Given the description of an element on the screen output the (x, y) to click on. 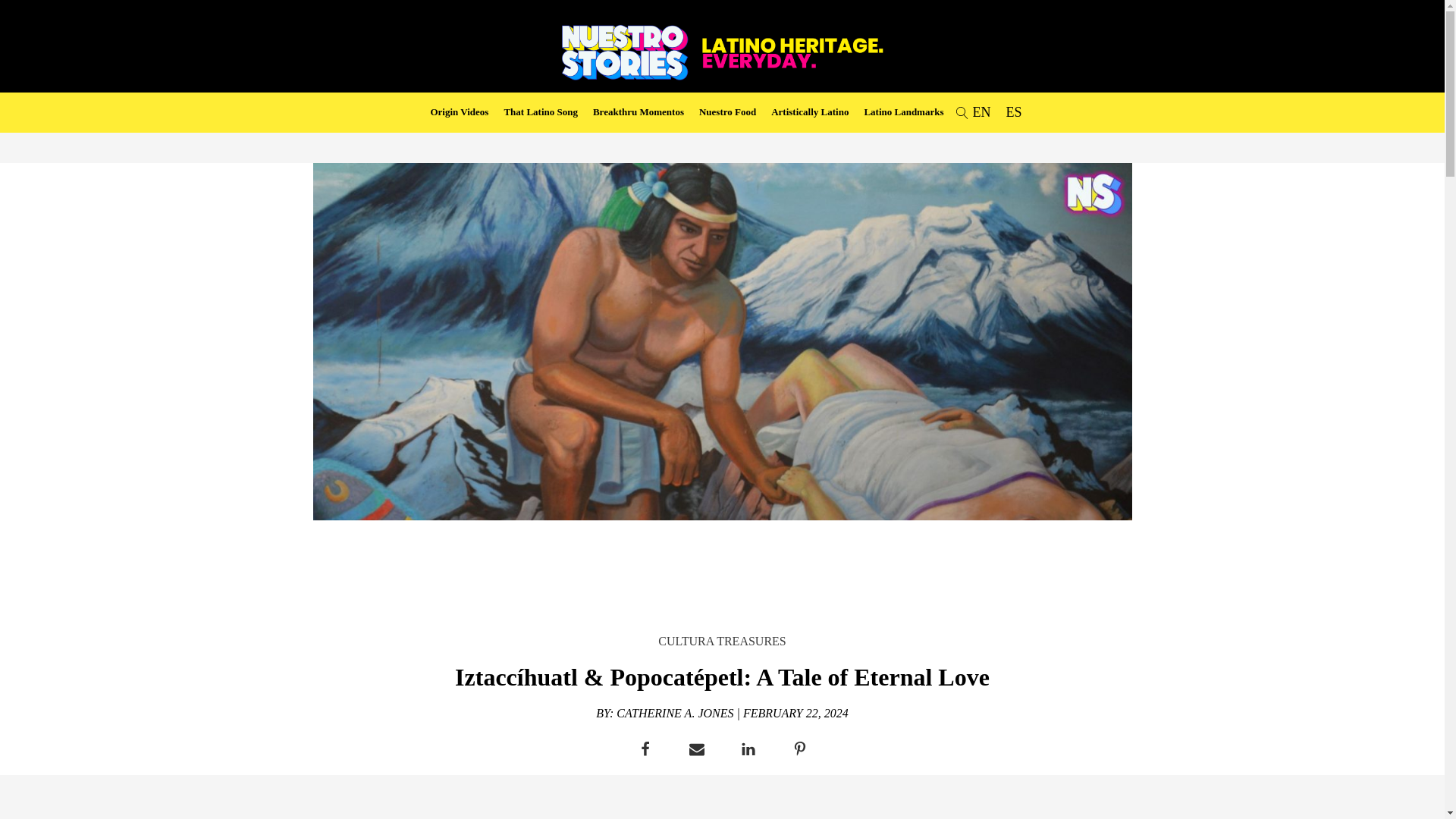
Origin Videos (458, 112)
Search (25, 9)
Latino Landmarks (903, 112)
Artistically Latino (809, 112)
Nuestro Food (726, 112)
Breakthru Momentos (638, 112)
That Latino Song (540, 112)
ES (1014, 112)
CULTURA TREASURES (722, 640)
